Given the description of an element on the screen output the (x, y) to click on. 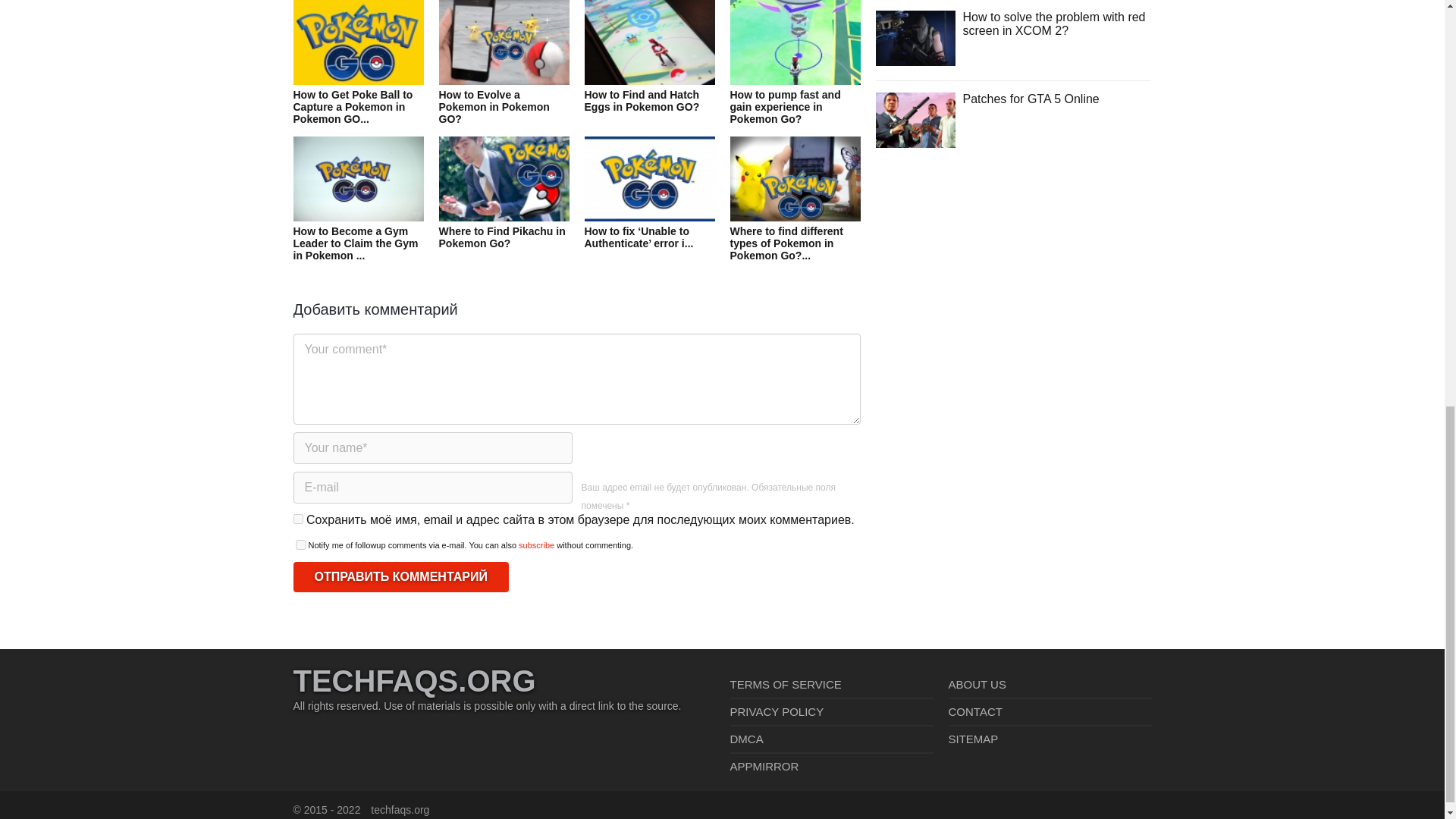
How to Get Poke Ball to Capture a Pokemon in Pokemon GO... (357, 80)
How to Become a Gym Leader to Claim the Gym in Pokemon ... (357, 216)
yes (299, 544)
Where to Find Pikachu in Pokemon Go? (503, 210)
How to Find and Hatch Eggs in Pokemon GO? (648, 74)
yes (297, 519)
subscribe (536, 544)
How to pump fast and gain experience in Pokemon Go? (794, 80)
How to solve the problem with red screen in XCOM 2? (915, 37)
How to Evolve a Pokemon in Pokemon GO? (503, 80)
